Given the description of an element on the screen output the (x, y) to click on. 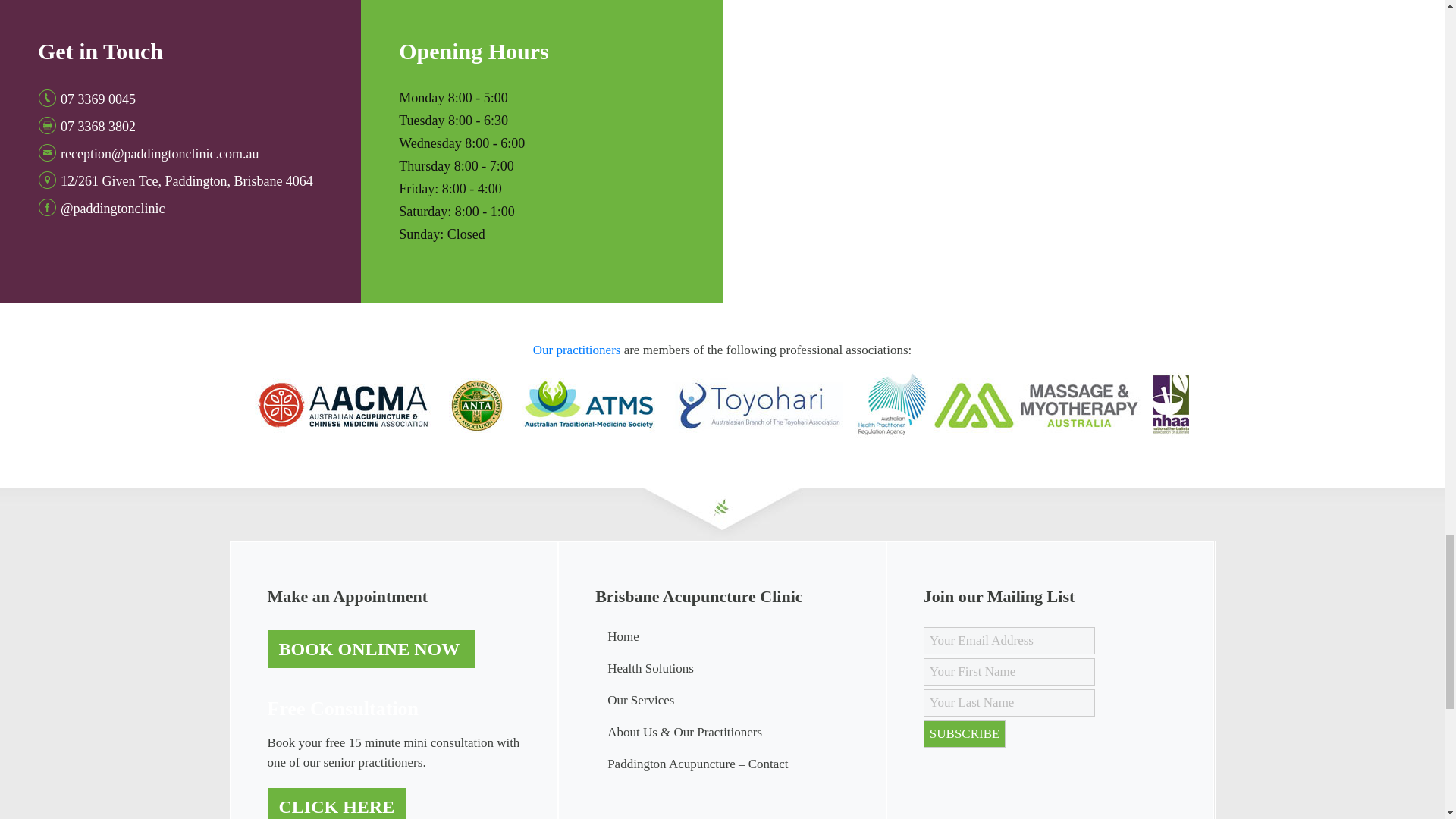
Subscribe (964, 733)
